Given the description of an element on the screen output the (x, y) to click on. 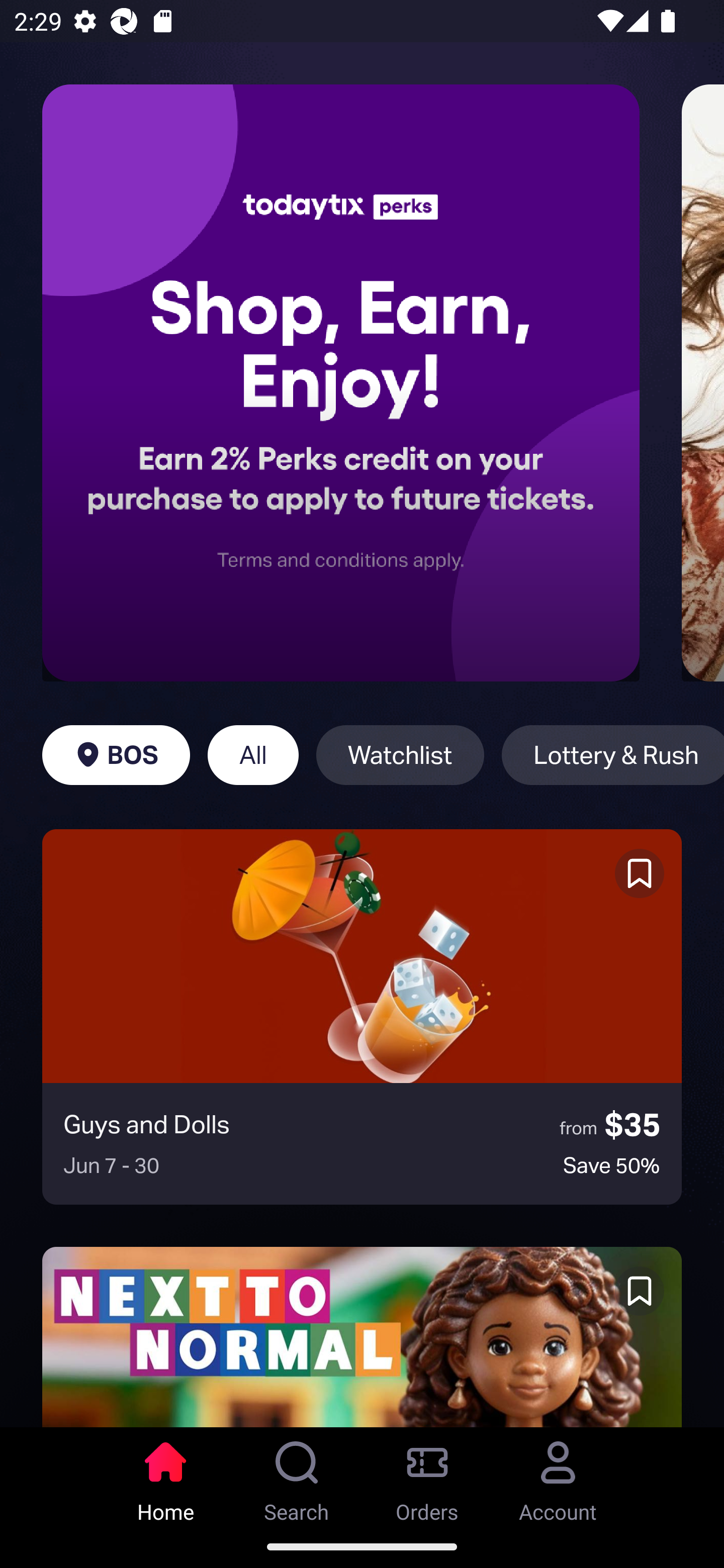
BOS (115, 754)
All (252, 754)
Watchlist (400, 754)
Lottery & Rush (612, 754)
Guys and Dolls from $35 Jun 7 - 30 Save 50% (361, 1016)
Search (296, 1475)
Orders (427, 1475)
Account (558, 1475)
